Given the description of an element on the screen output the (x, y) to click on. 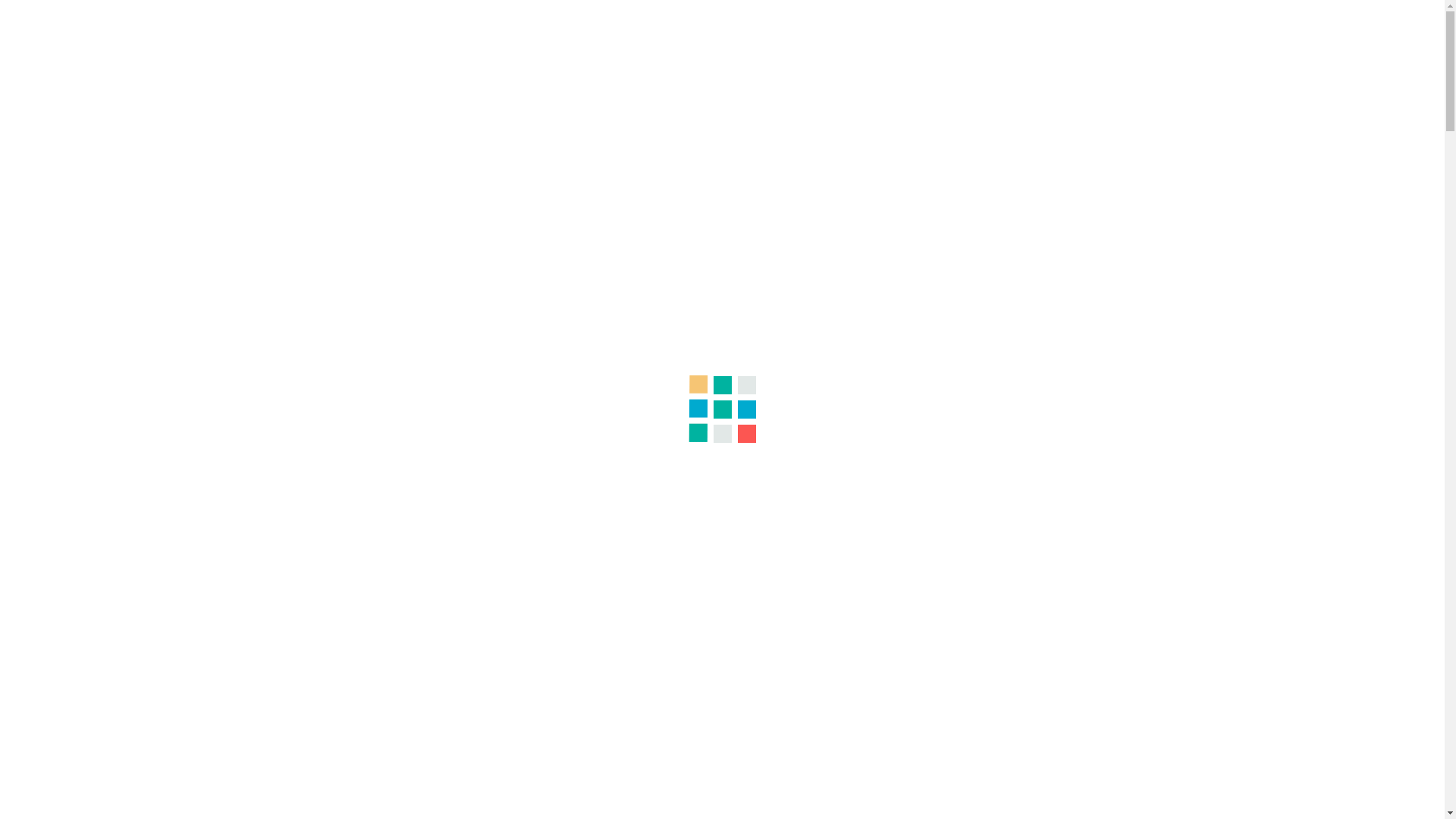
Majstori Element type: text (269, 18)
sintret Element type: hover (824, 697)
Poslovi Element type: text (206, 18)
arttime Element type: text (754, 789)
sintret Element type: hover (824, 305)
Kontakt Element type: text (403, 18)
Dobar Majstor Element type: text (54, 18)
Registracija Element type: text (1356, 18)
Prijava Element type: text (1289, 18)
Magazin Element type: text (336, 18)
Beatriz Element type: text (755, 397)
